Given the description of an element on the screen output the (x, y) to click on. 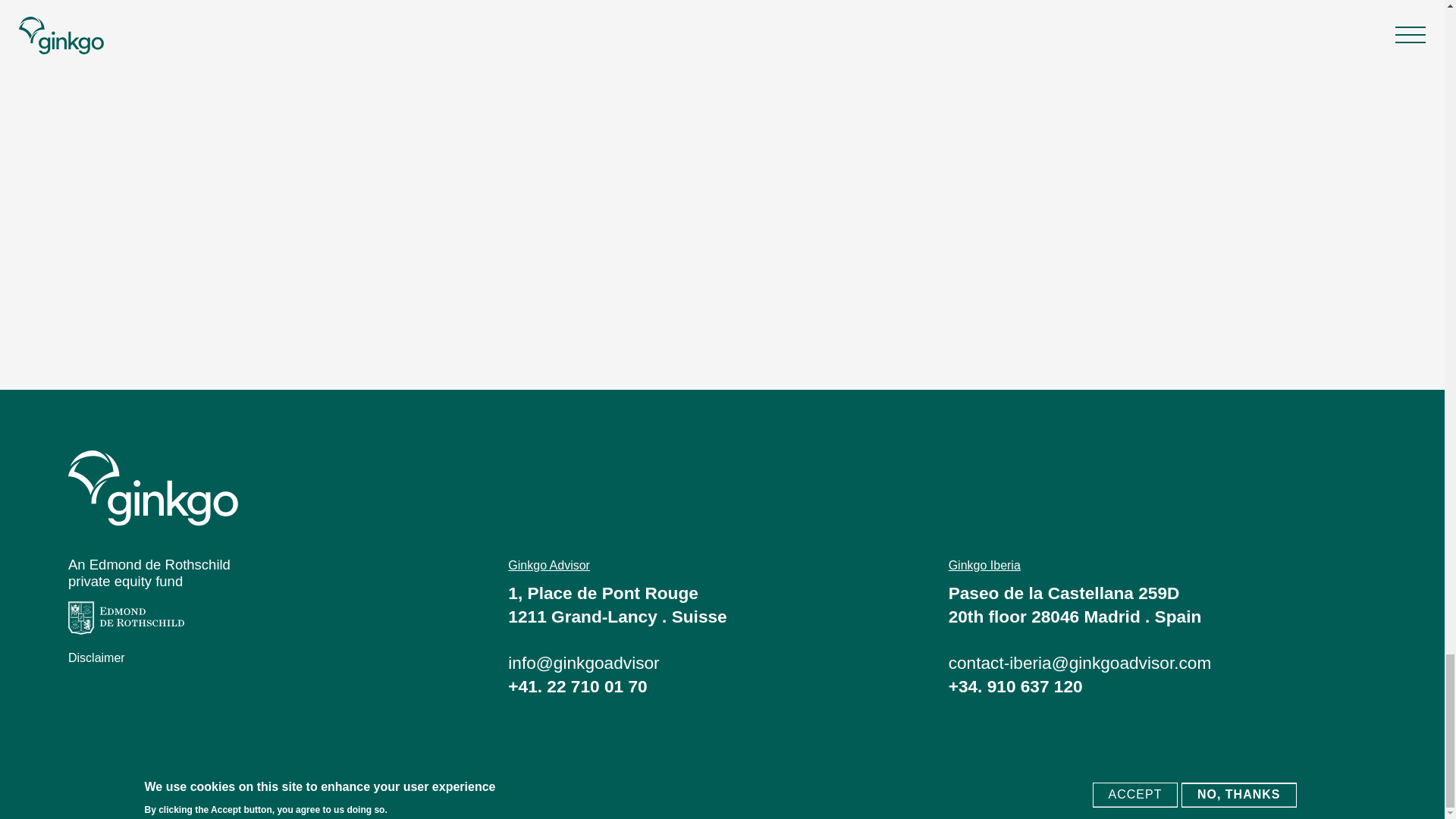
Home (721, 488)
Disclaimer (96, 657)
